Given the description of an element on the screen output the (x, y) to click on. 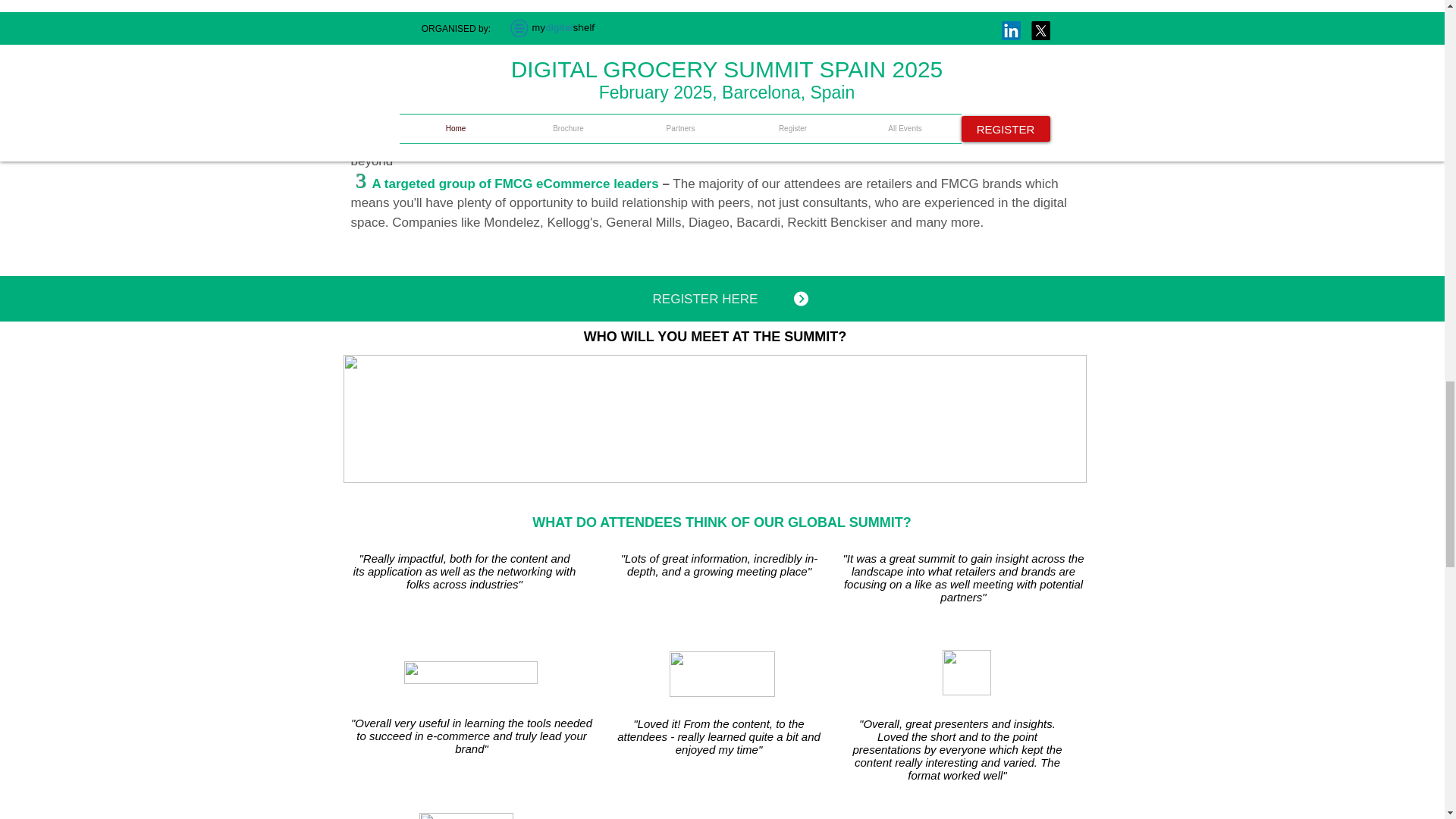
REGISTER HERE (705, 299)
